Given the description of an element on the screen output the (x, y) to click on. 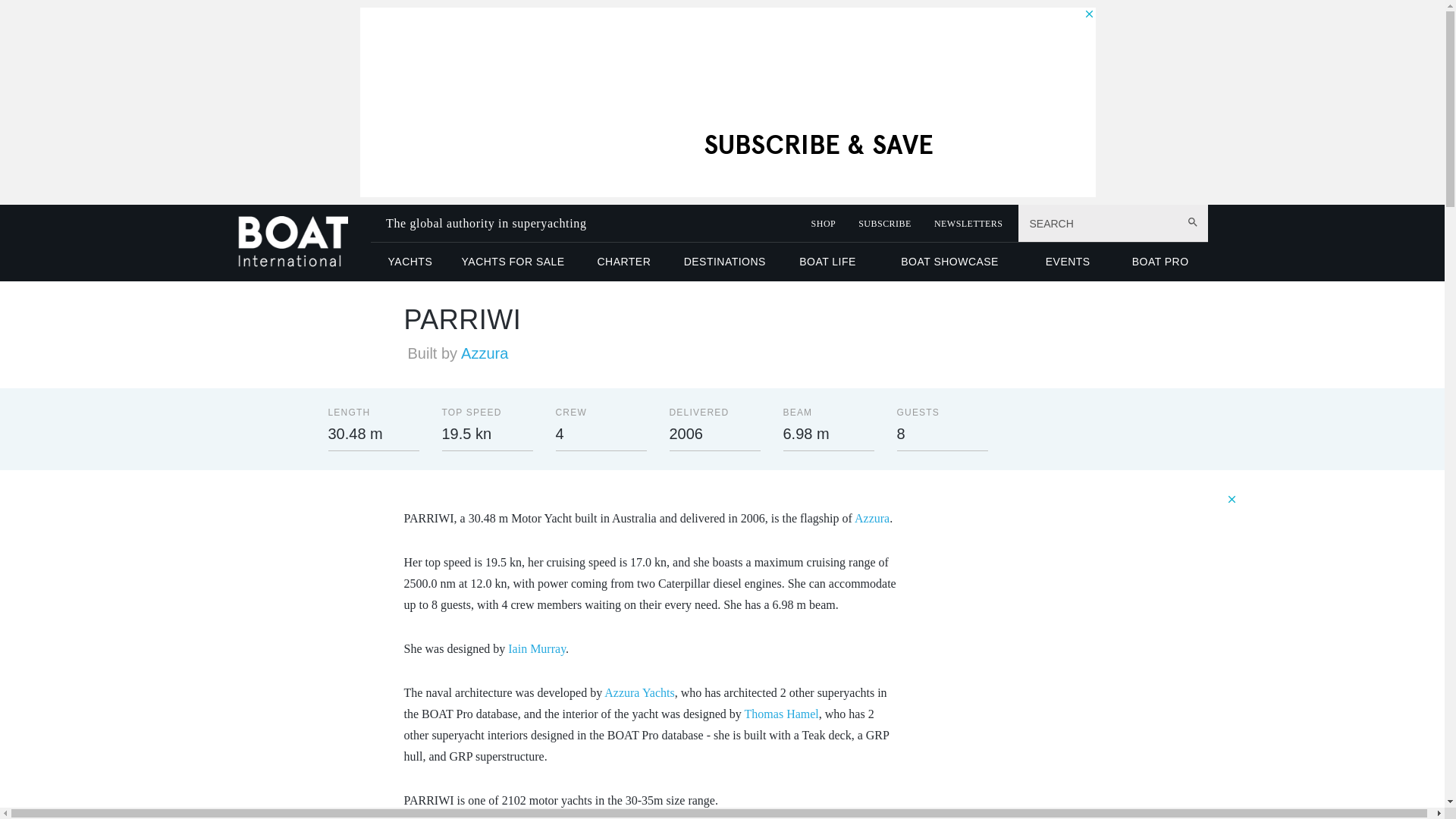
3rd party ad content (1123, 587)
NEWSLETTERS (968, 223)
CHARTER (623, 261)
DESTINATIONS (724, 261)
YACHTS FOR SALE (512, 261)
YACHTS (410, 261)
SHOP (822, 223)
SUBSCRIBE (885, 223)
